Given the description of an element on the screen output the (x, y) to click on. 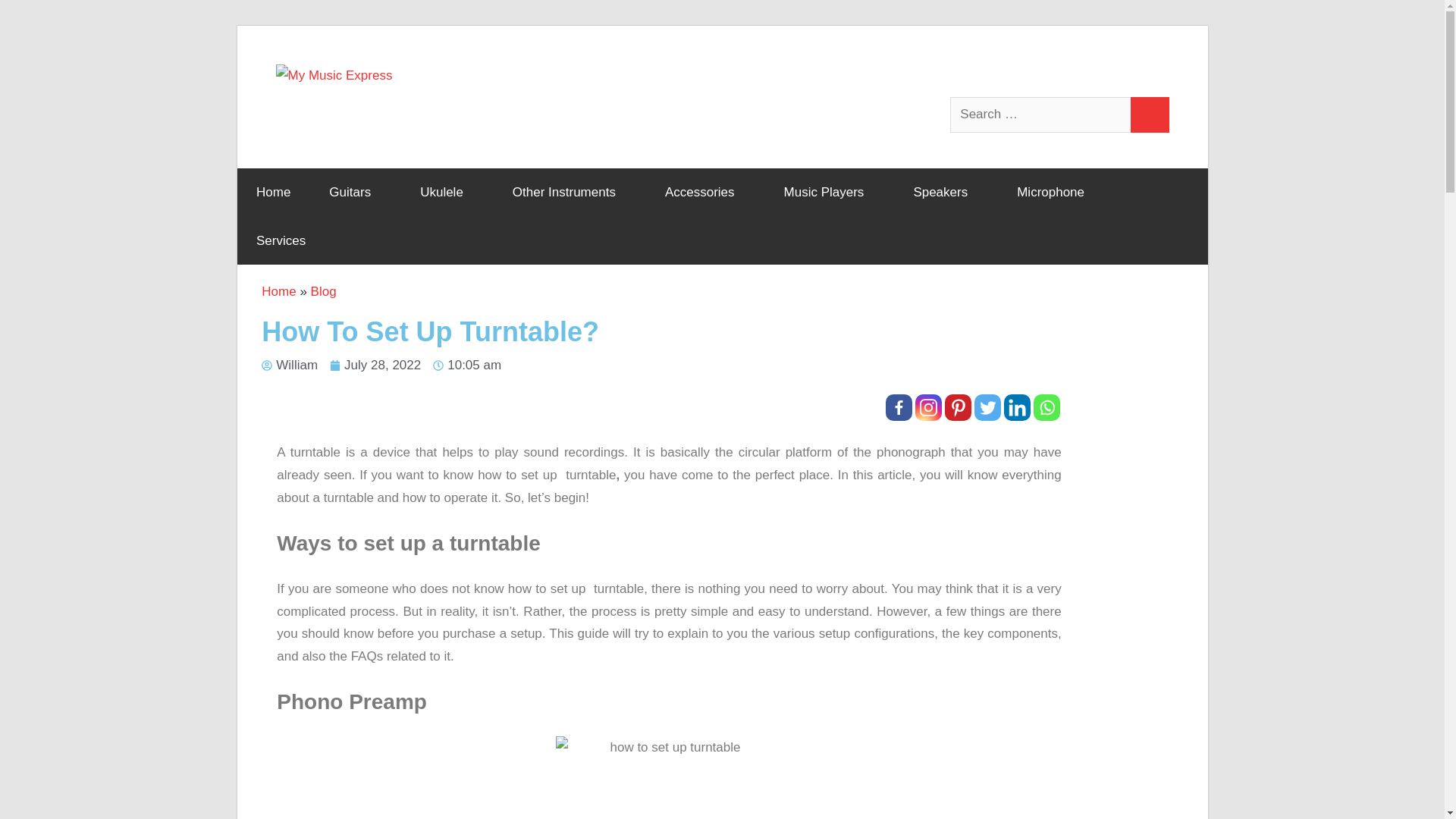
Pinterest (957, 406)
Instagram (928, 406)
Other Instruments (569, 192)
Whatsapp (1046, 406)
Guitars (355, 192)
Home (271, 192)
Search for: (1041, 115)
Linkedin (1017, 406)
Twitter (987, 406)
Ukulele (447, 192)
Facebook (898, 406)
